Given the description of an element on the screen output the (x, y) to click on. 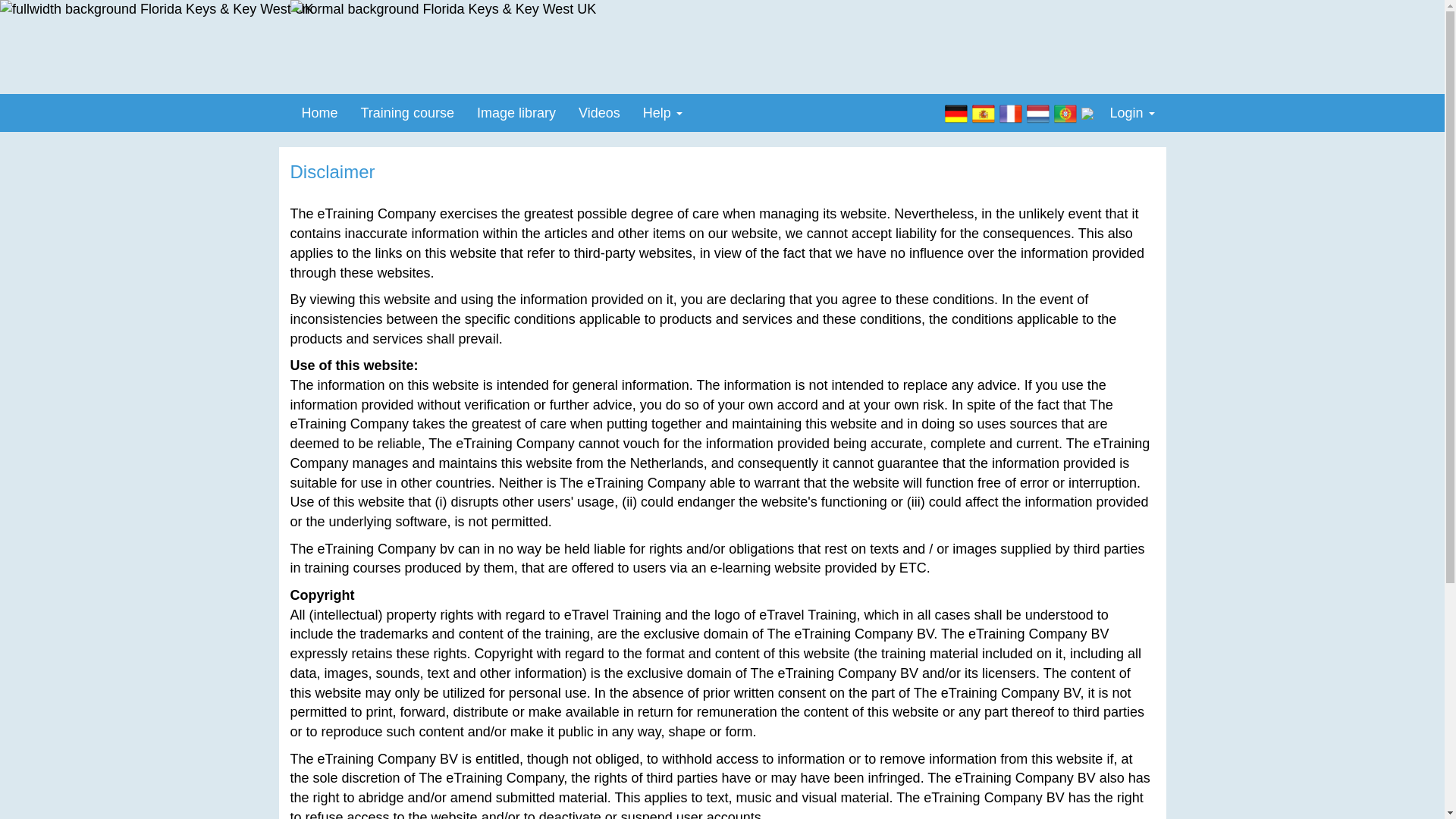
Help  (662, 112)
Image library (516, 112)
Videos (599, 112)
Training course (407, 112)
Home (319, 112)
Login (1131, 112)
